Given the description of an element on the screen output the (x, y) to click on. 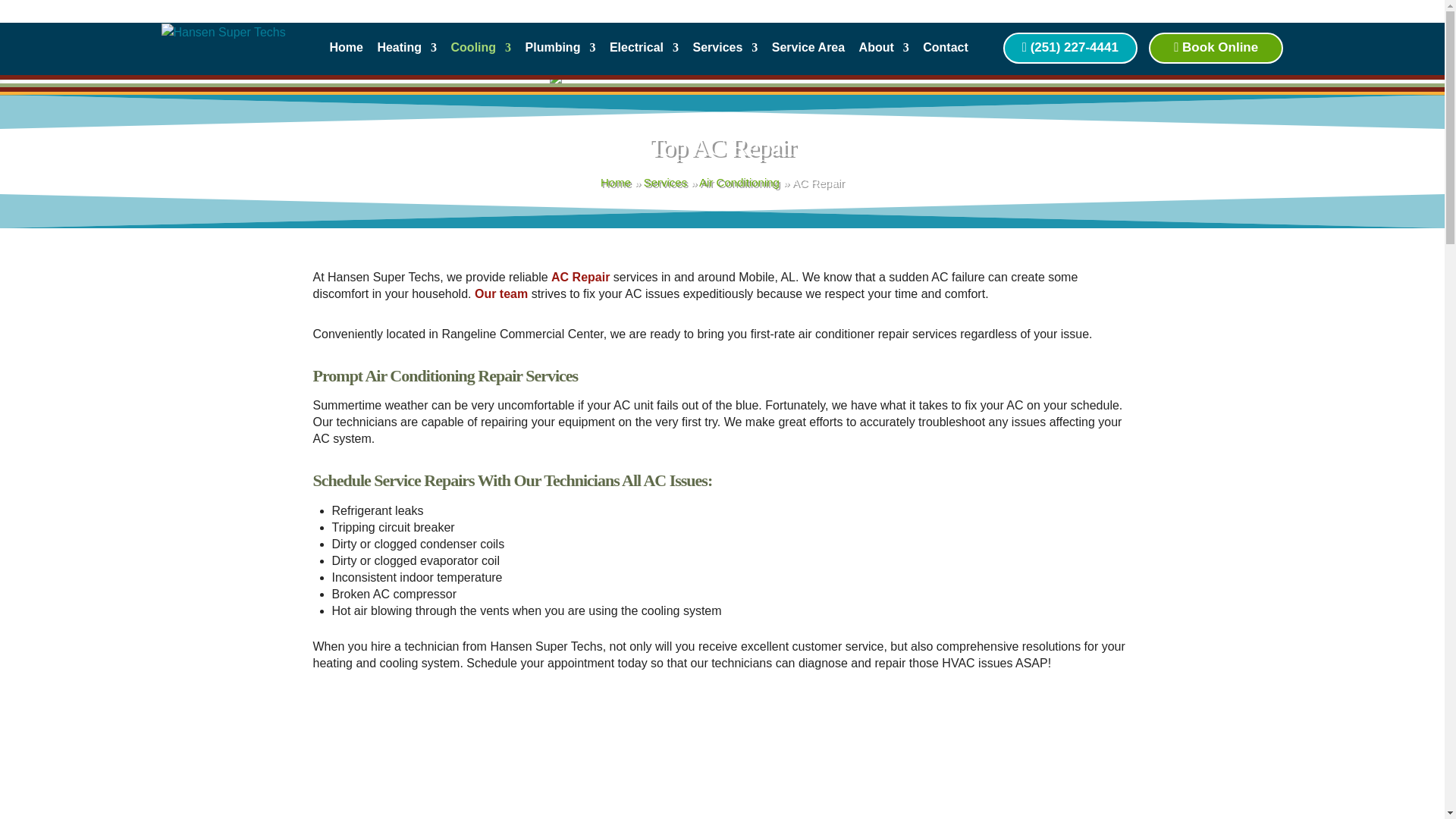
Services (665, 182)
Services (665, 182)
Home (345, 51)
Service Area (807, 51)
Home (614, 182)
Cooling (481, 51)
Electrical (644, 51)
Plumbing (560, 51)
Contact (945, 51)
Air Conditioning (738, 182)
